Given the description of an element on the screen output the (x, y) to click on. 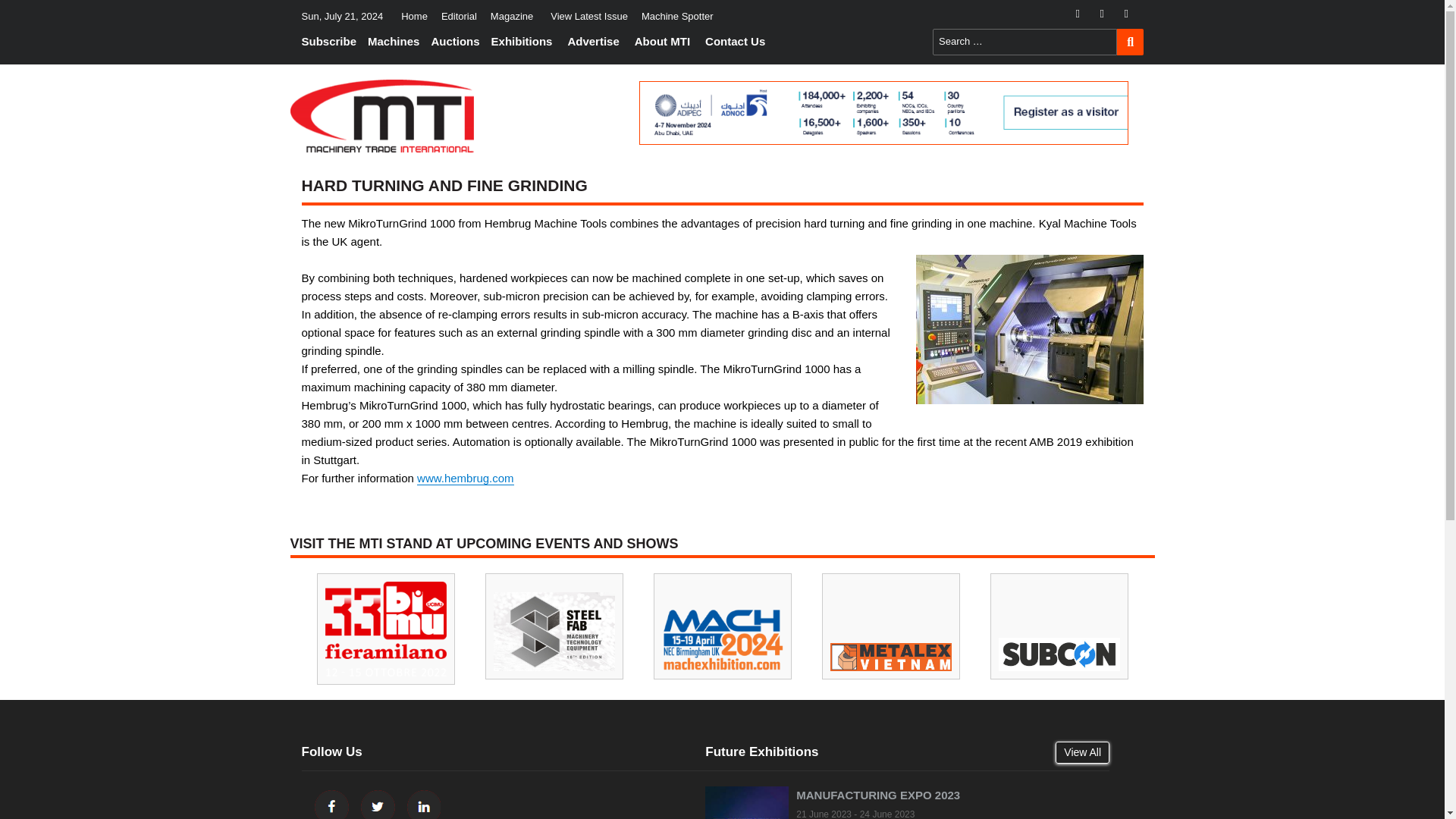
Machine Spotter (677, 16)
Subscribe (333, 42)
Magazine (511, 16)
View Latest Issue (588, 16)
Machines (395, 42)
Home (413, 16)
Editorial (458, 16)
fb (1084, 13)
ln (1133, 13)
twtr (1108, 13)
